Given the description of an element on the screen output the (x, y) to click on. 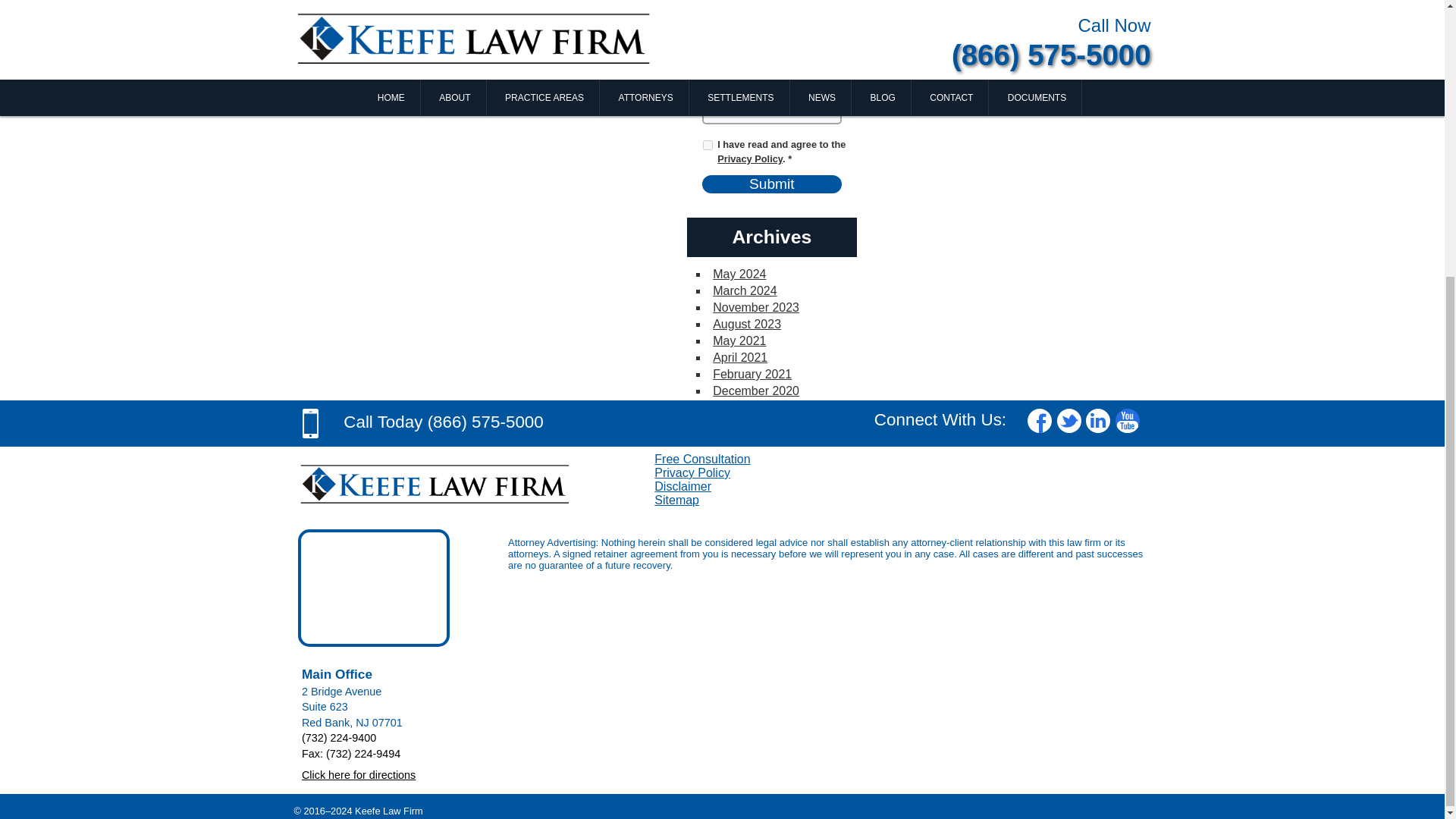
Privacy Policy (750, 158)
Link to Twitter (1069, 420)
Privacy Policy (750, 158)
Link to YouTube (1127, 420)
May 2024 (739, 273)
Submit (771, 184)
Submit (771, 184)
Link to Linked In (1097, 420)
Link to Facebook (1039, 420)
